Given the description of an element on the screen output the (x, y) to click on. 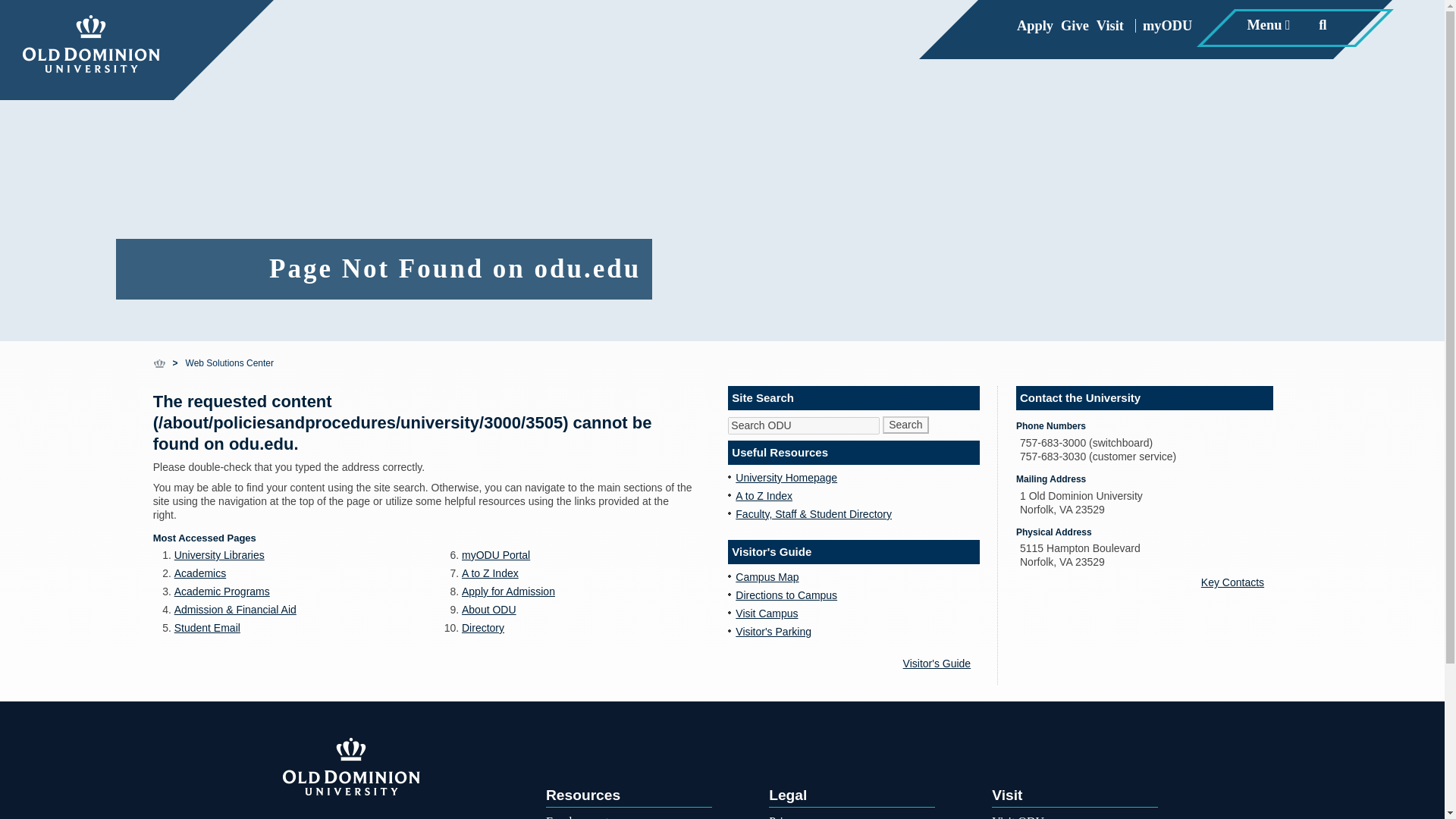
University Homepage (786, 477)
Student Email (207, 627)
myODU Portal (495, 554)
Apply for Admission (1074, 25)
Visitor's Guide (507, 591)
University Libraries (940, 663)
myODU (219, 554)
Apply (1164, 25)
Directions to Campus (1034, 25)
Web Solutions Center (786, 594)
About ODU (230, 362)
A to Z Index (488, 609)
Campus Map (489, 573)
